Given the description of an element on the screen output the (x, y) to click on. 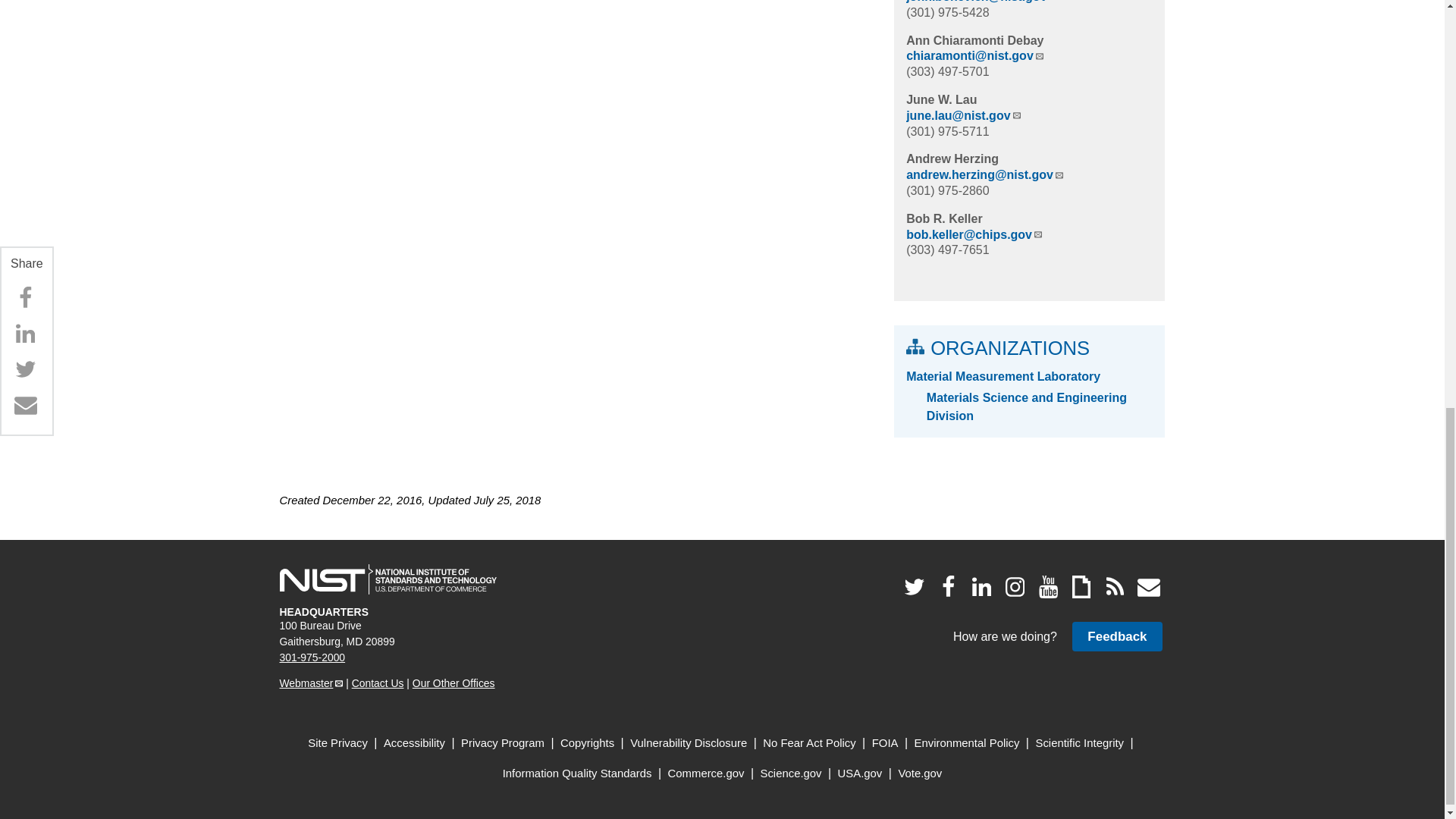
Ann Chiaramonti Debay (974, 40)
View staff profile page (943, 218)
View staff profile page (940, 99)
Provide feedback (1116, 636)
National Institute of Standards and Technology (387, 579)
View staff profile page (974, 40)
View staff profile page (951, 158)
